Given the description of an element on the screen output the (x, y) to click on. 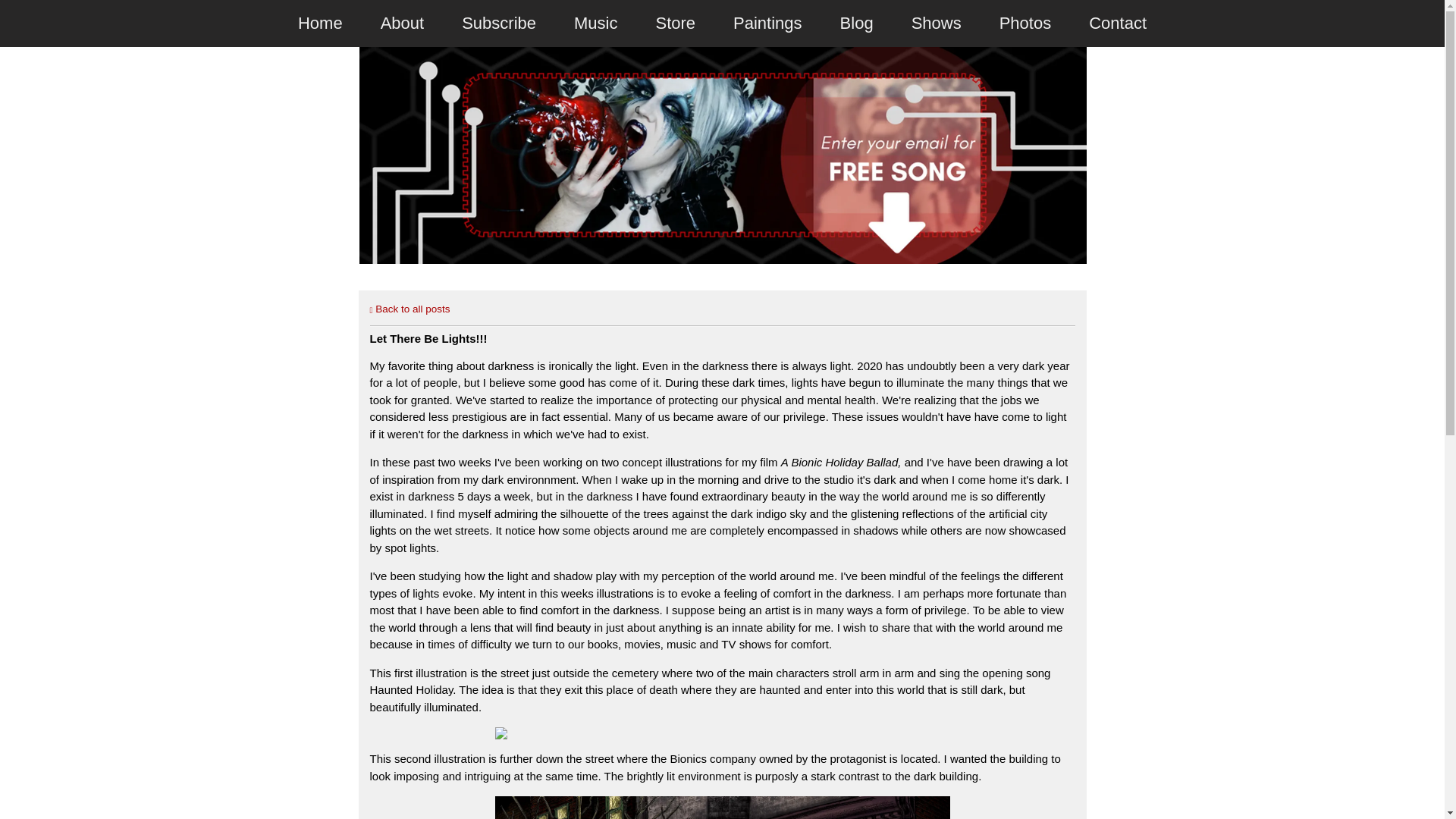
Photos (1024, 23)
Shows (935, 23)
Back to all posts (409, 308)
Music (595, 23)
Subscribe (498, 23)
Paintings (767, 23)
Store (675, 23)
Home (320, 23)
About (402, 23)
Blog (856, 23)
Contact (1118, 23)
